Given the description of an element on the screen output the (x, y) to click on. 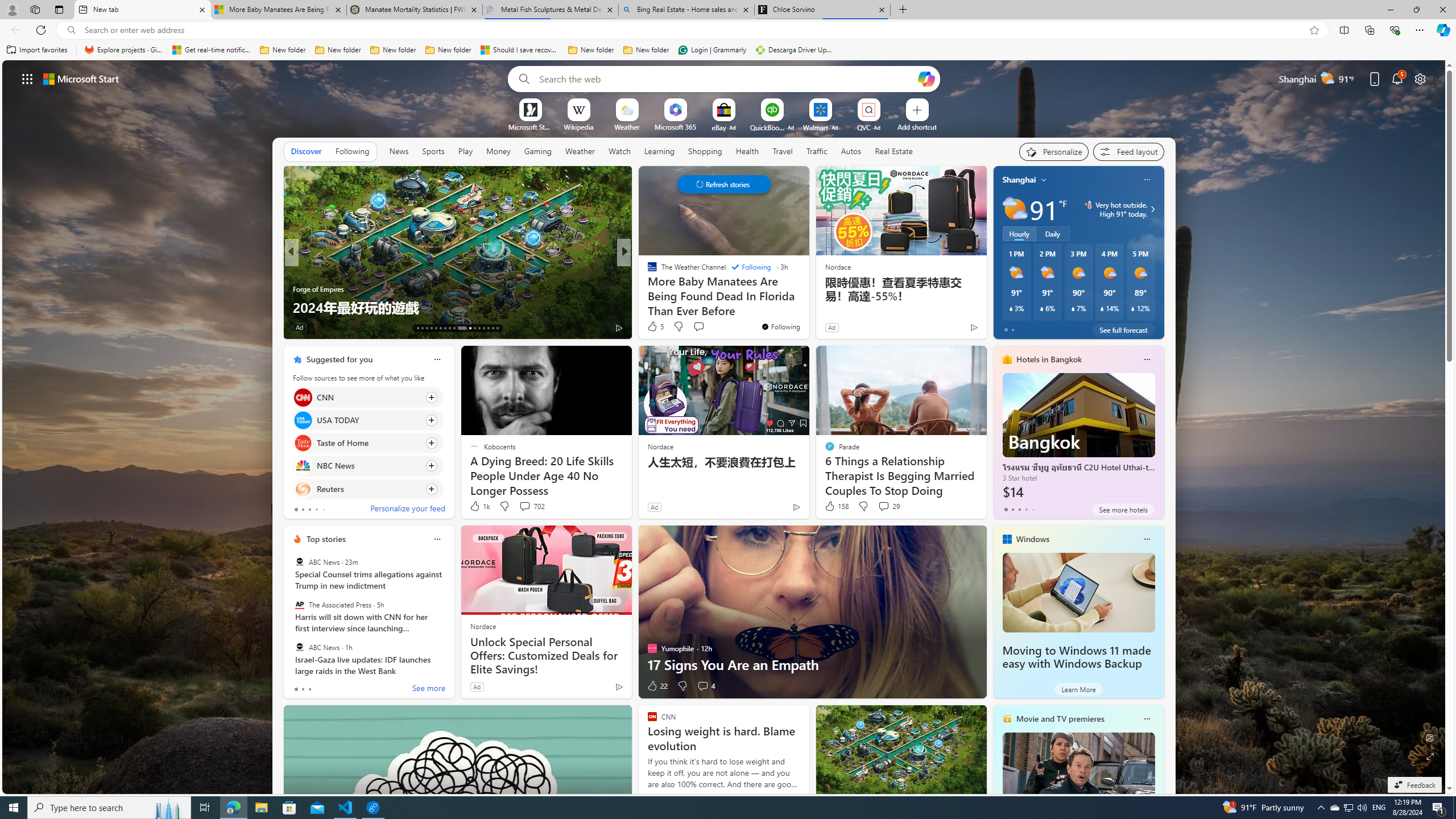
Real Estate (893, 151)
AutomationID: tab-23 (466, 328)
New folder (646, 49)
tab-4 (1032, 509)
AutomationID: tab-20 (449, 328)
158 Like (835, 505)
Page settings (1420, 78)
Play (465, 151)
AutomationID: tab-42 (497, 328)
App bar (728, 29)
ABC News (299, 646)
Forge of Empires (317, 288)
